Given the description of an element on the screen output the (x, y) to click on. 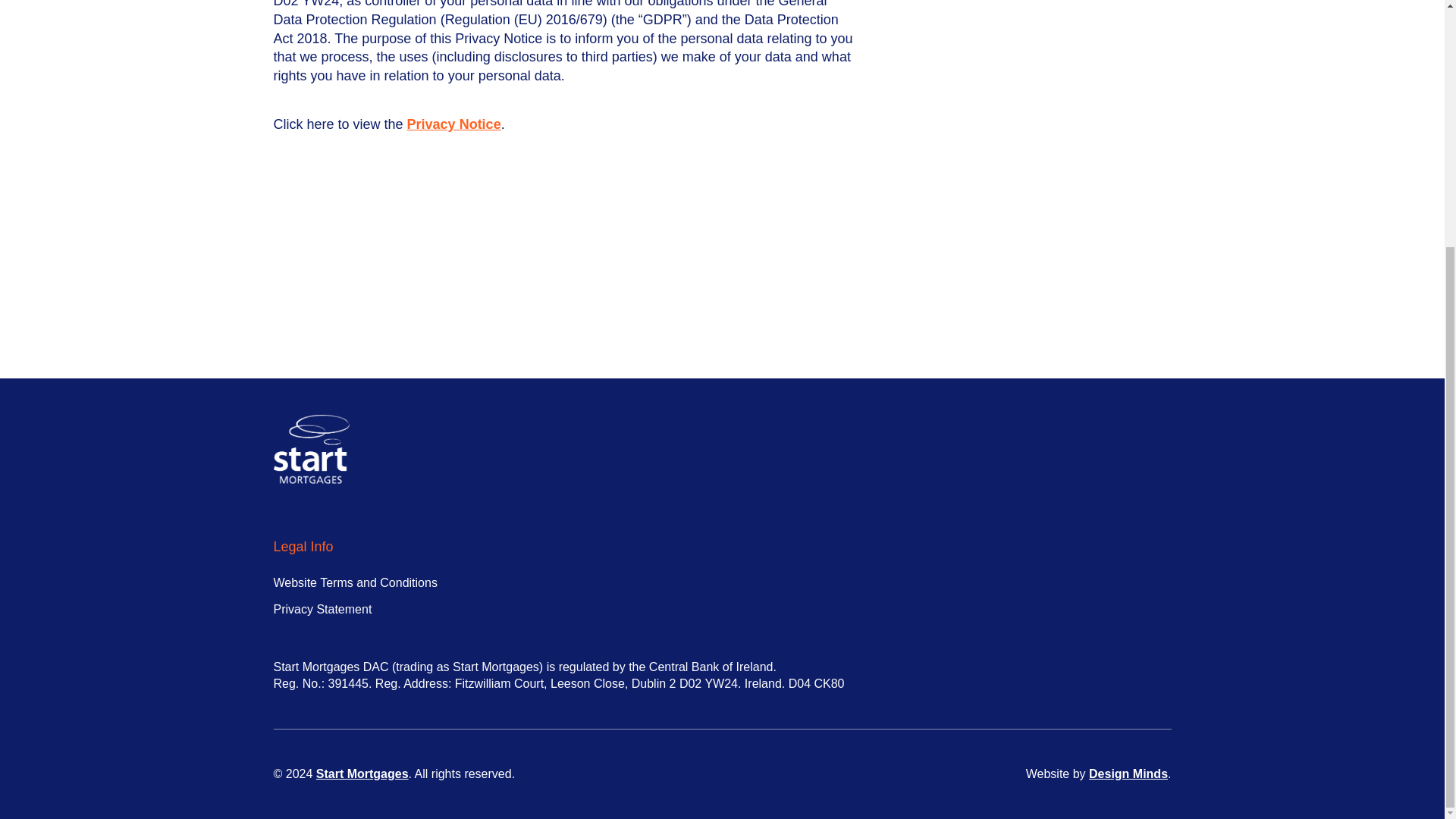
Privacy Statement (322, 609)
Legal Info (303, 546)
Start Mortgages Homepage (362, 773)
Start Mortgages (362, 773)
Website Terms and Conditions (354, 582)
Privacy Notice (453, 124)
Start Mortgages Homepage (311, 449)
Design Minds Creative Agency (1128, 773)
Design Minds (1128, 773)
